Given the description of an element on the screen output the (x, y) to click on. 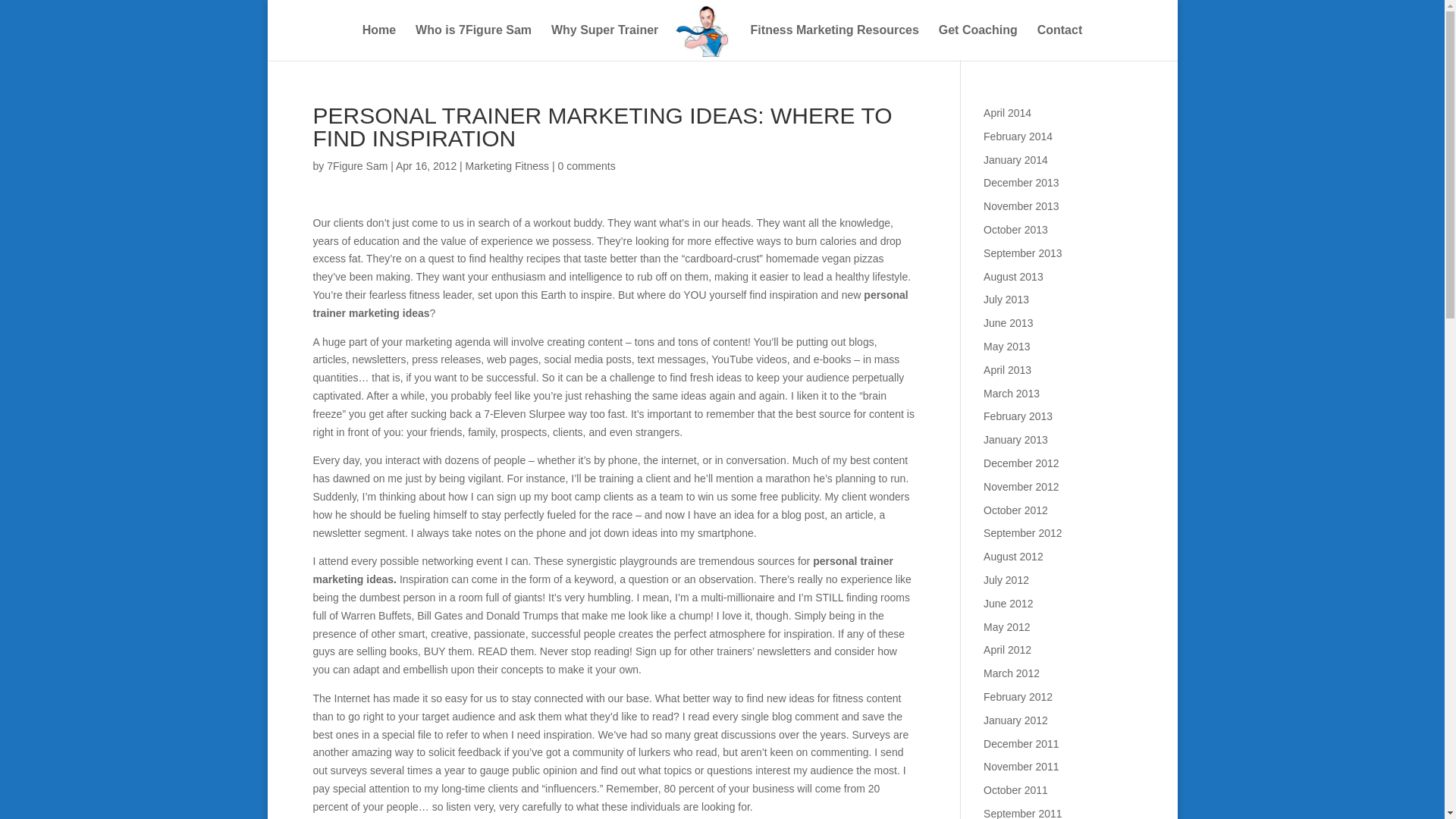
April 2014 (1007, 112)
Home (379, 42)
July 2013 (1006, 299)
June 2012 (1008, 603)
December 2012 (1021, 463)
Get Coaching (978, 42)
March 2013 (1011, 393)
January 2013 (1016, 439)
Contact (1059, 42)
August 2013 (1013, 276)
7Figure Sam (356, 165)
November 2013 (1021, 205)
Who is 7Figure Sam (472, 42)
Why Super Trainer (604, 42)
January 2014 (1016, 159)
